Given the description of an element on the screen output the (x, y) to click on. 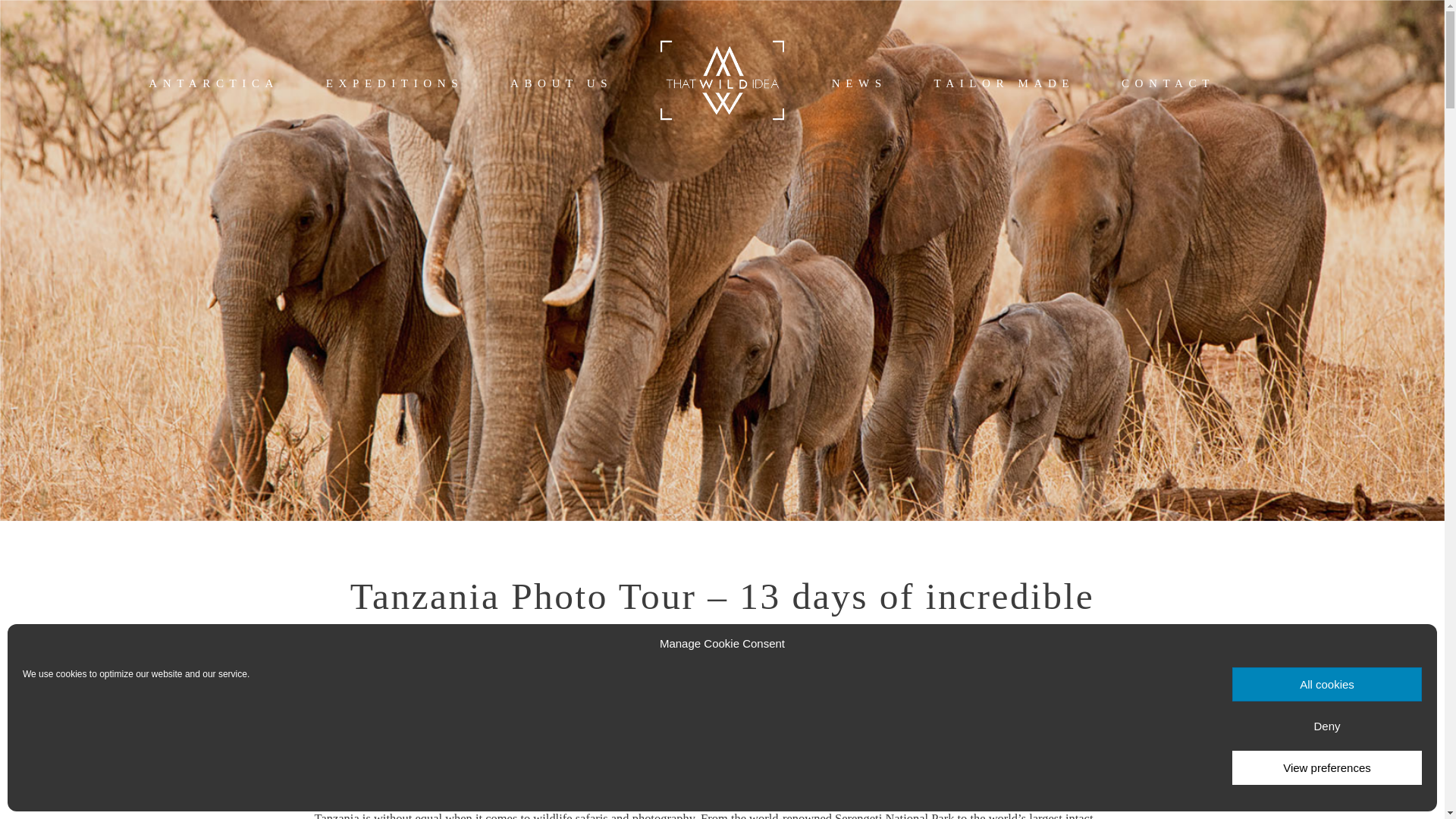
ANTARCTICA (213, 84)
TAILOR MADE (1004, 84)
All cookies (1326, 684)
ABOUT US (561, 84)
NEWS (858, 84)
View preferences (1326, 767)
EXPEDITIONS (394, 84)
CONTACT (1167, 84)
Deny (1326, 725)
